Given the description of an element on the screen output the (x, y) to click on. 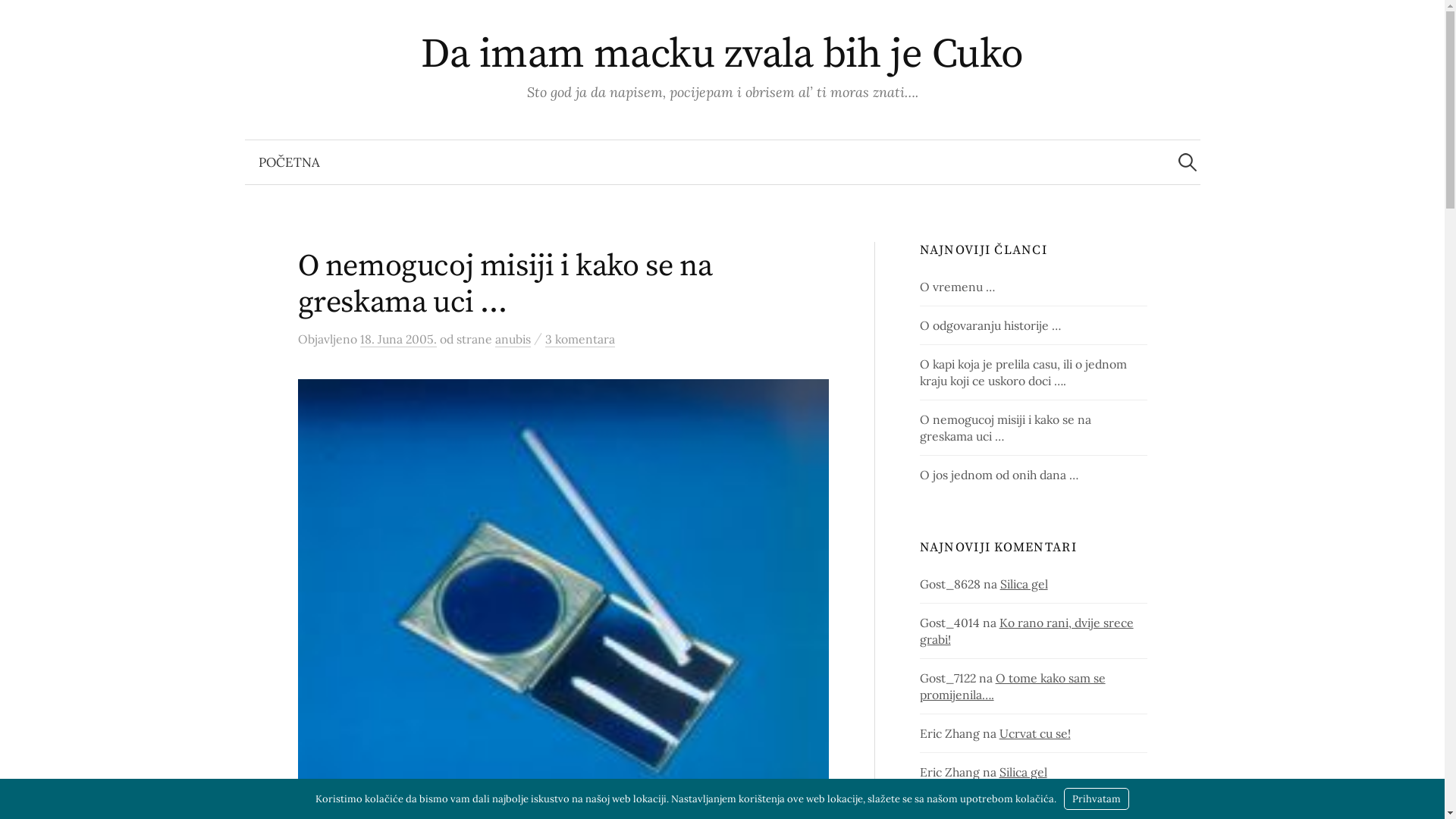
Prihvatam Element type: text (1096, 798)
anubis Element type: text (512, 339)
Da imam macku zvala bih je Cuko Element type: text (721, 54)
Silica gel Element type: text (1024, 583)
Ko rano rani, dvije srece grabi! Element type: text (1026, 630)
Pretraga Element type: text (18, 18)
18. Juna 2005. Element type: text (397, 339)
Ucrvat cu se! Element type: text (1034, 732)
Silica gel Element type: text (1023, 771)
